Given the description of an element on the screen output the (x, y) to click on. 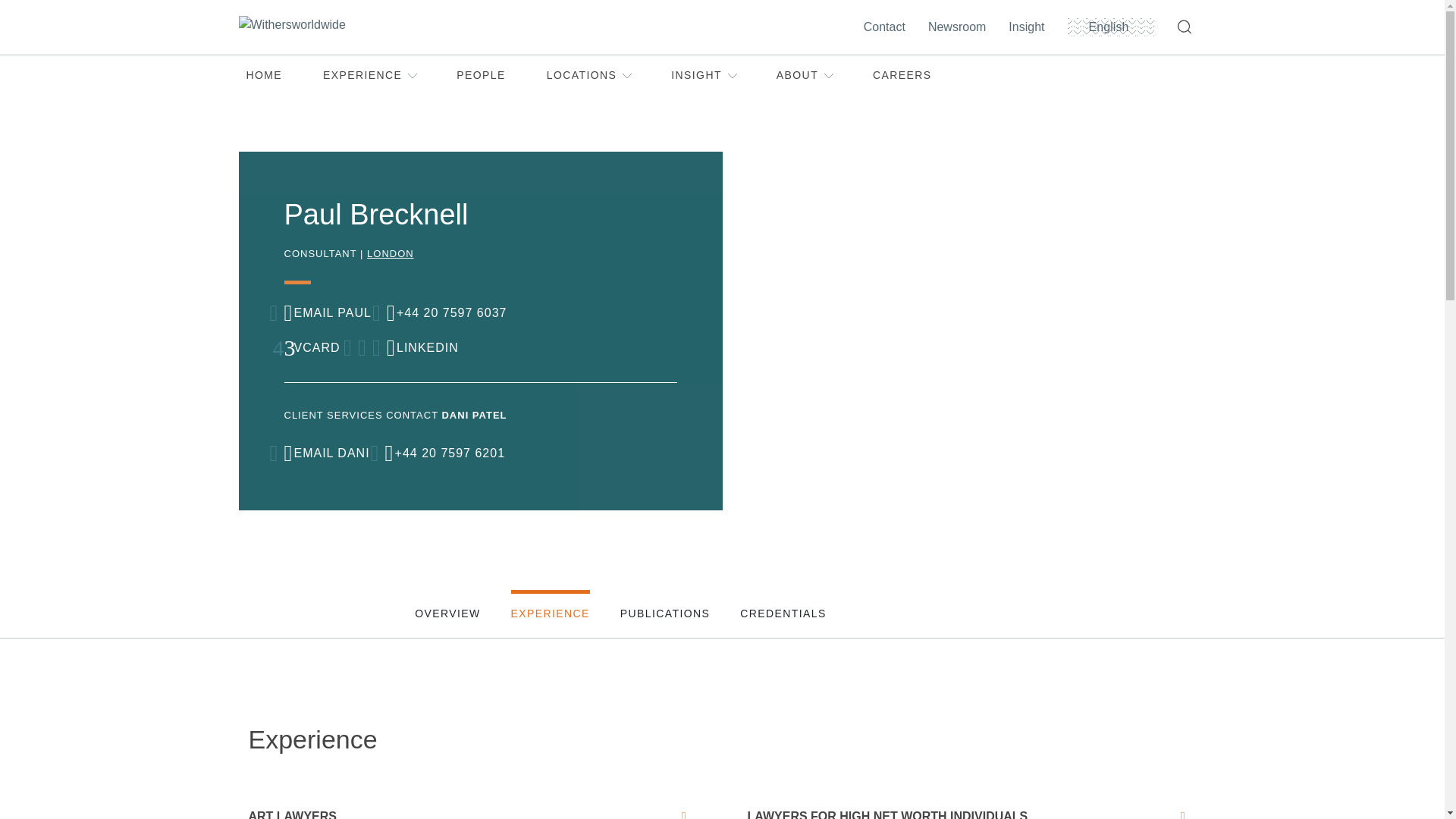
Search (1187, 26)
Home (336, 26)
HOME (263, 75)
Insight (1030, 27)
Newsroom (960, 27)
Contact (888, 27)
